Given the description of an element on the screen output the (x, y) to click on. 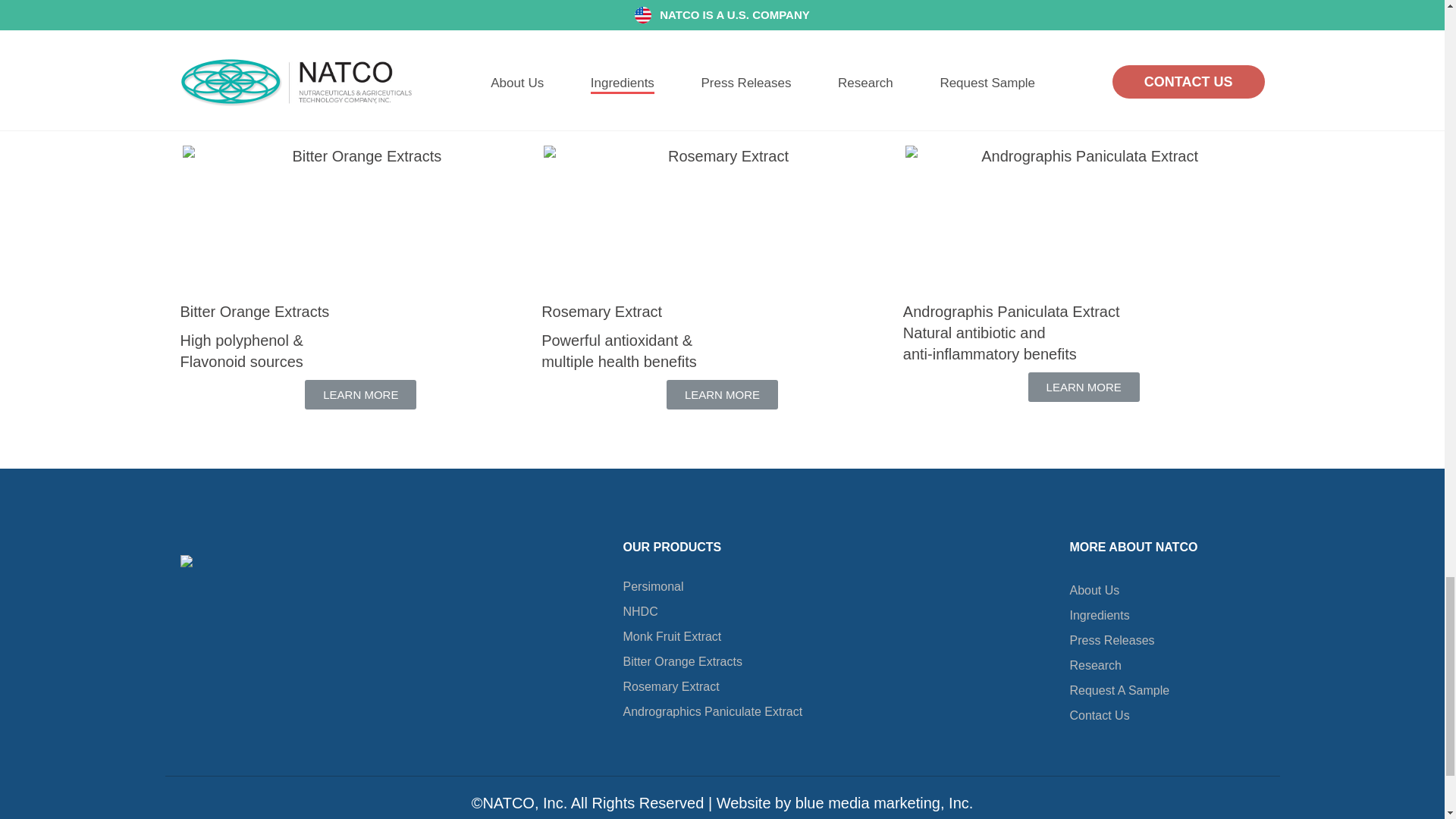
Ingredients (1165, 615)
Contact Us (1165, 715)
Bitter Orange Extracts (713, 661)
blue media marketing, Inc. (884, 802)
Press Releases (1165, 640)
About Us (1165, 590)
LEARN MORE (1083, 115)
LEARN MORE (1083, 387)
LEARN MORE (360, 107)
LEARN MORE (721, 115)
Andrographics Paniculate Extract (713, 711)
Research (1165, 665)
NHDC (713, 611)
LEARN MORE (360, 394)
Persimonal (713, 586)
